Given the description of an element on the screen output the (x, y) to click on. 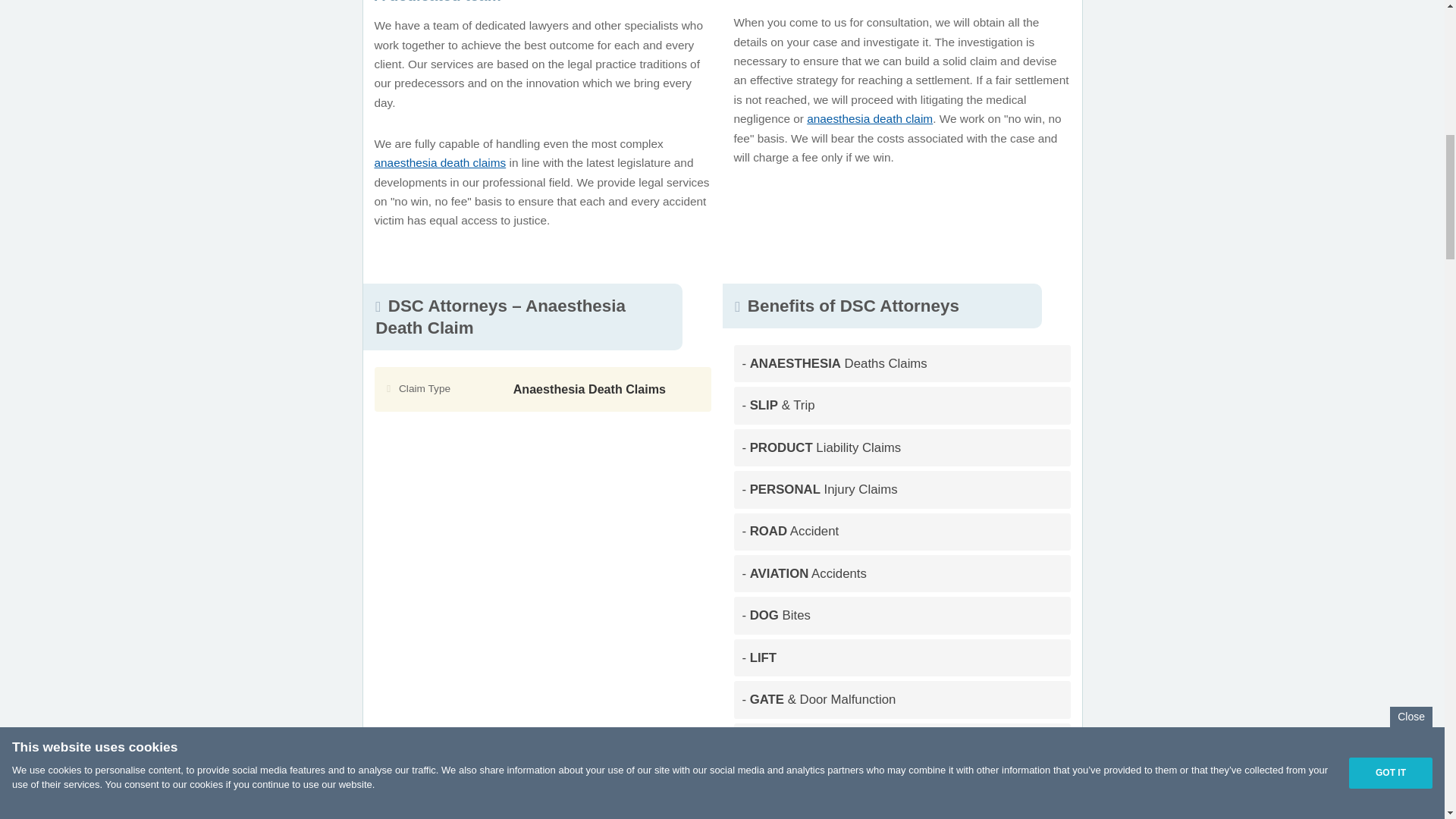
anaesthesia death claim (869, 118)
anaesthesia death claims (440, 162)
